Given the description of an element on the screen output the (x, y) to click on. 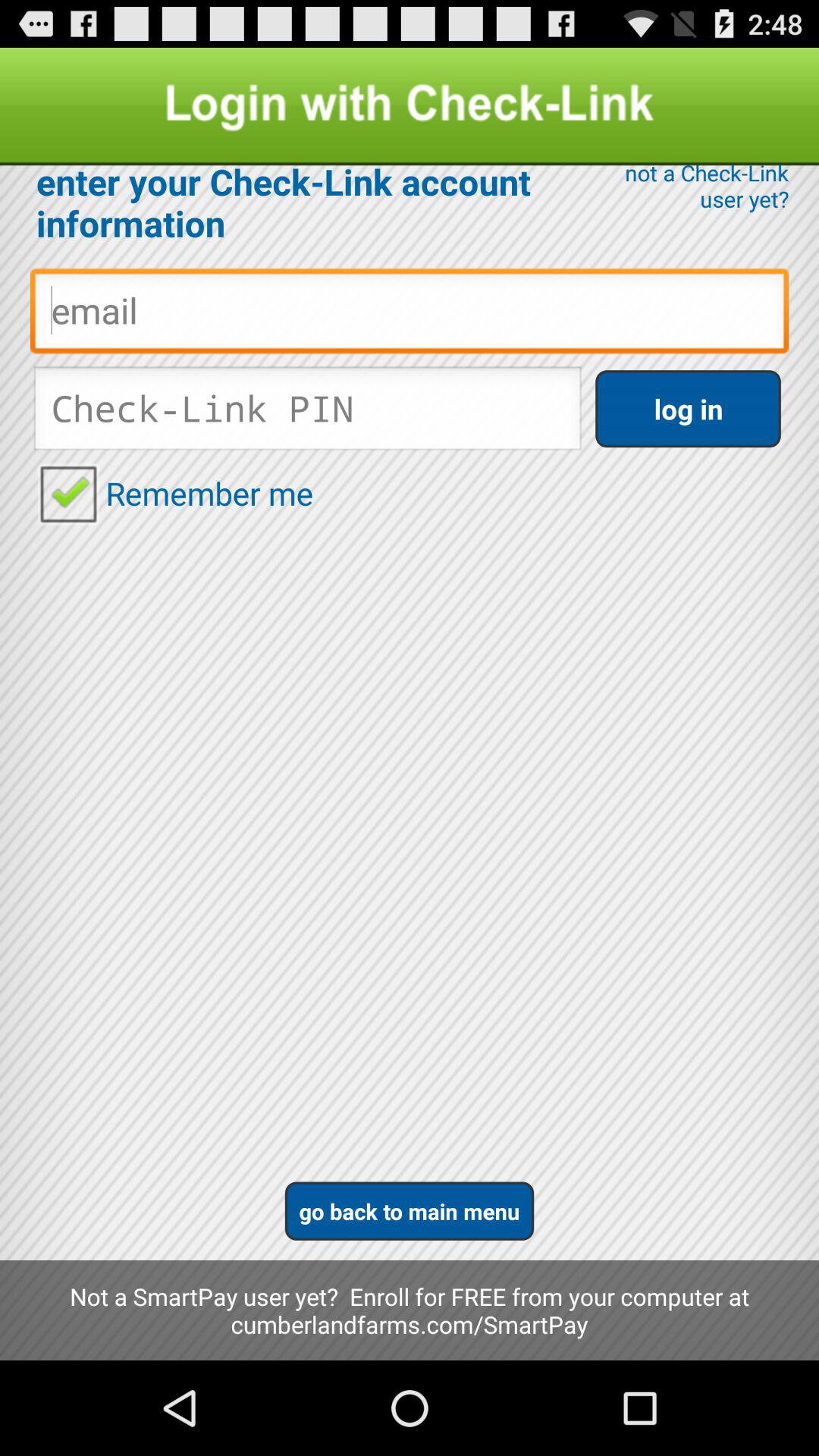
digit your email (409, 314)
